Given the description of an element on the screen output the (x, y) to click on. 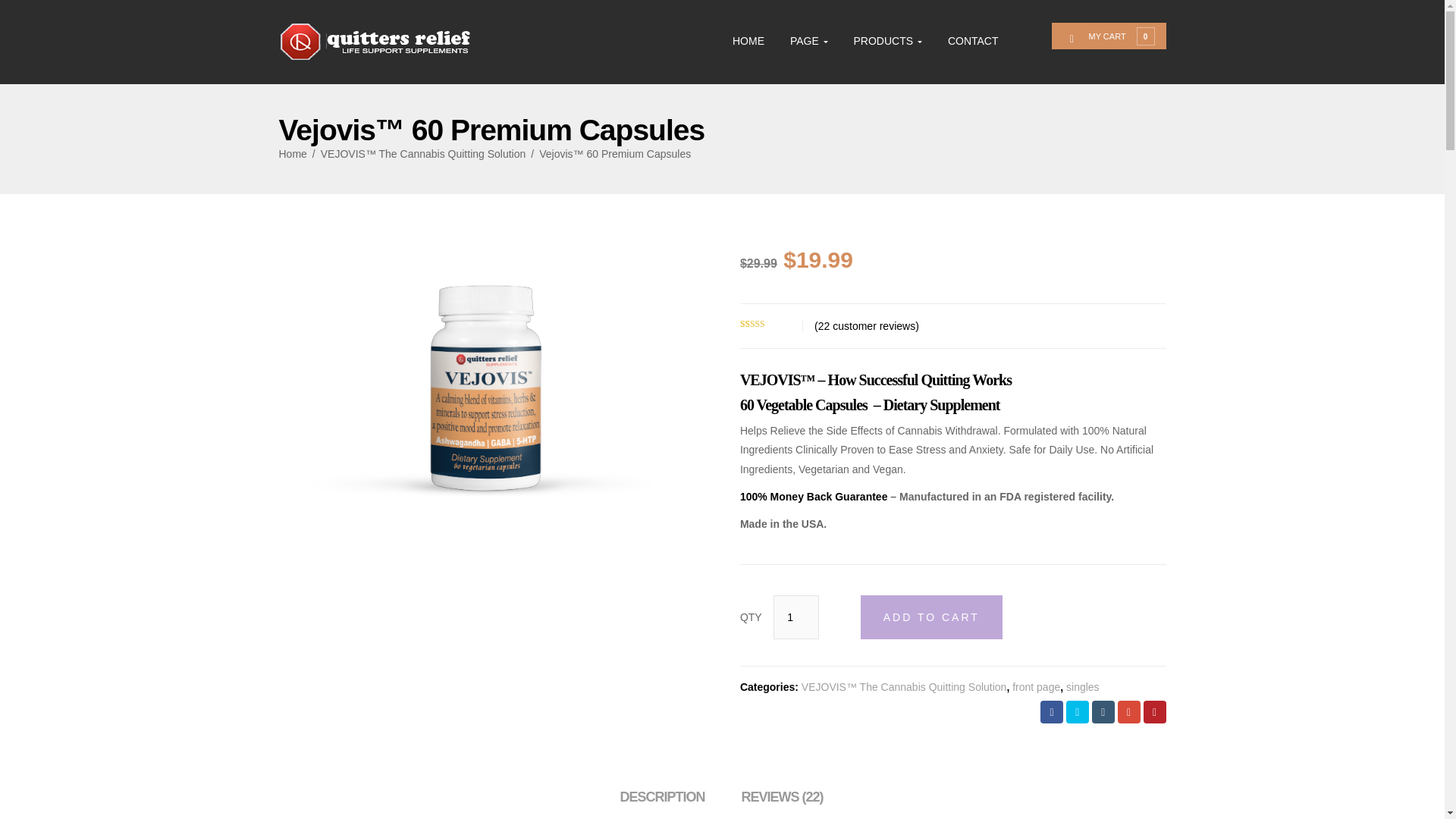
1 (795, 617)
Home (293, 153)
VEJOVIS single bottle (491, 381)
View your shopping cart (1117, 35)
singles (1082, 686)
HOME (748, 40)
Qty (795, 617)
Share on Tumblr (1103, 712)
Share on Twitter (1077, 712)
ADD TO CART (931, 617)
Share on facebook (1051, 712)
front page (1035, 686)
PAGE (809, 40)
MY CART 0 (1117, 35)
CONTACT (972, 40)
